Given the description of an element on the screen output the (x, y) to click on. 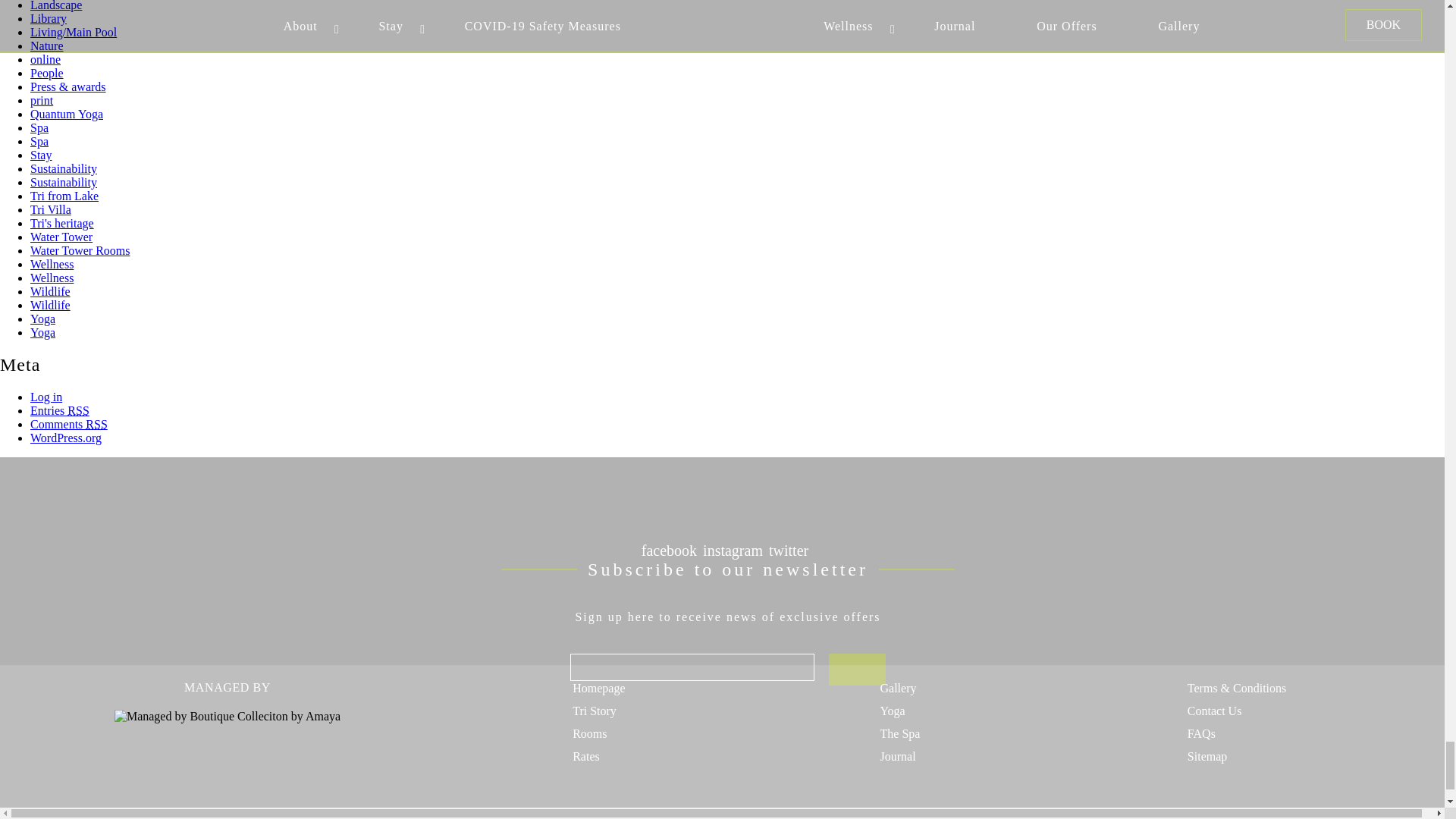
Really Simple Syndication (77, 410)
Really Simple Syndication (95, 423)
